Given the description of an element on the screen output the (x, y) to click on. 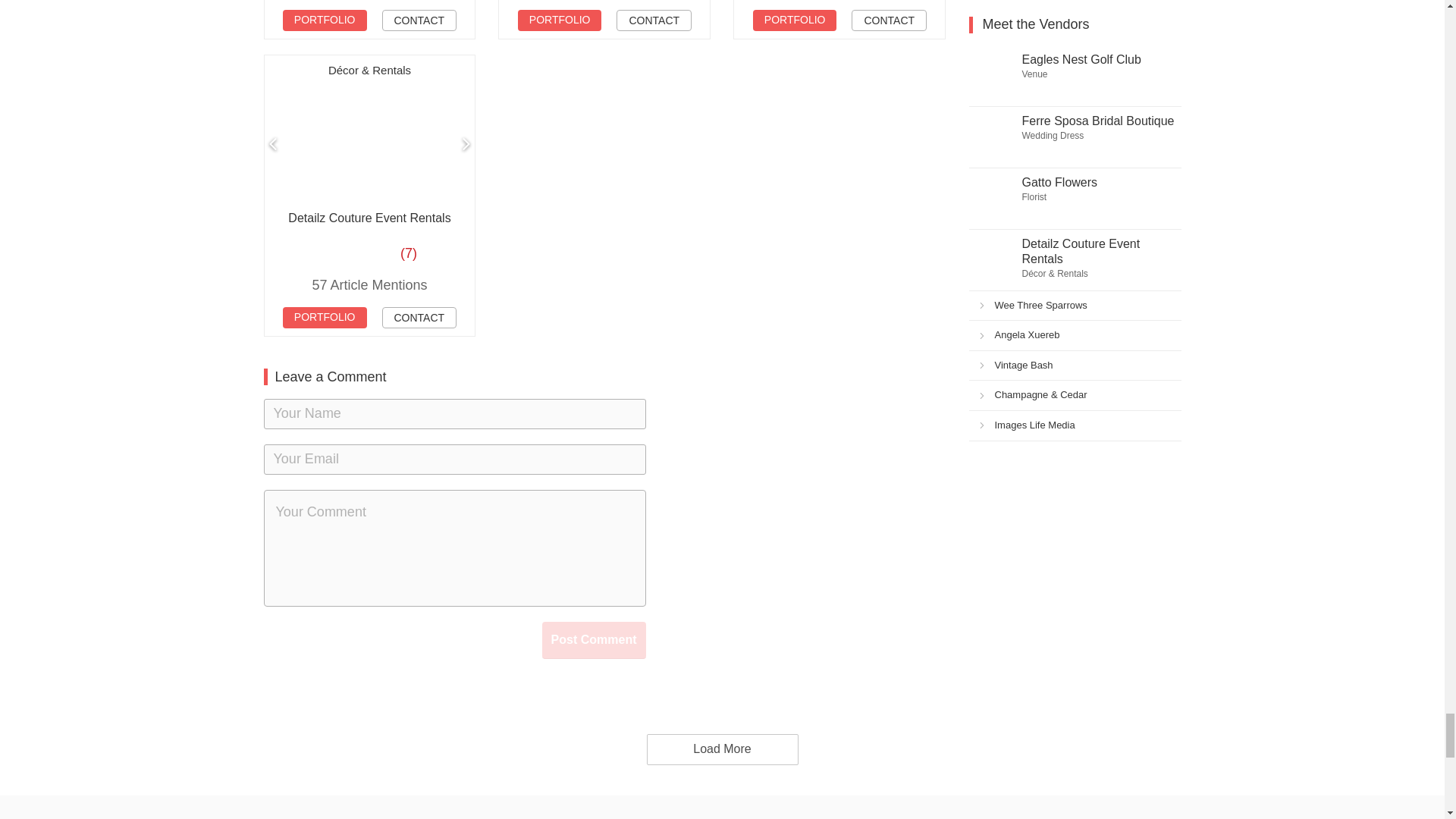
Post Comment (593, 640)
